Given the description of an element on the screen output the (x, y) to click on. 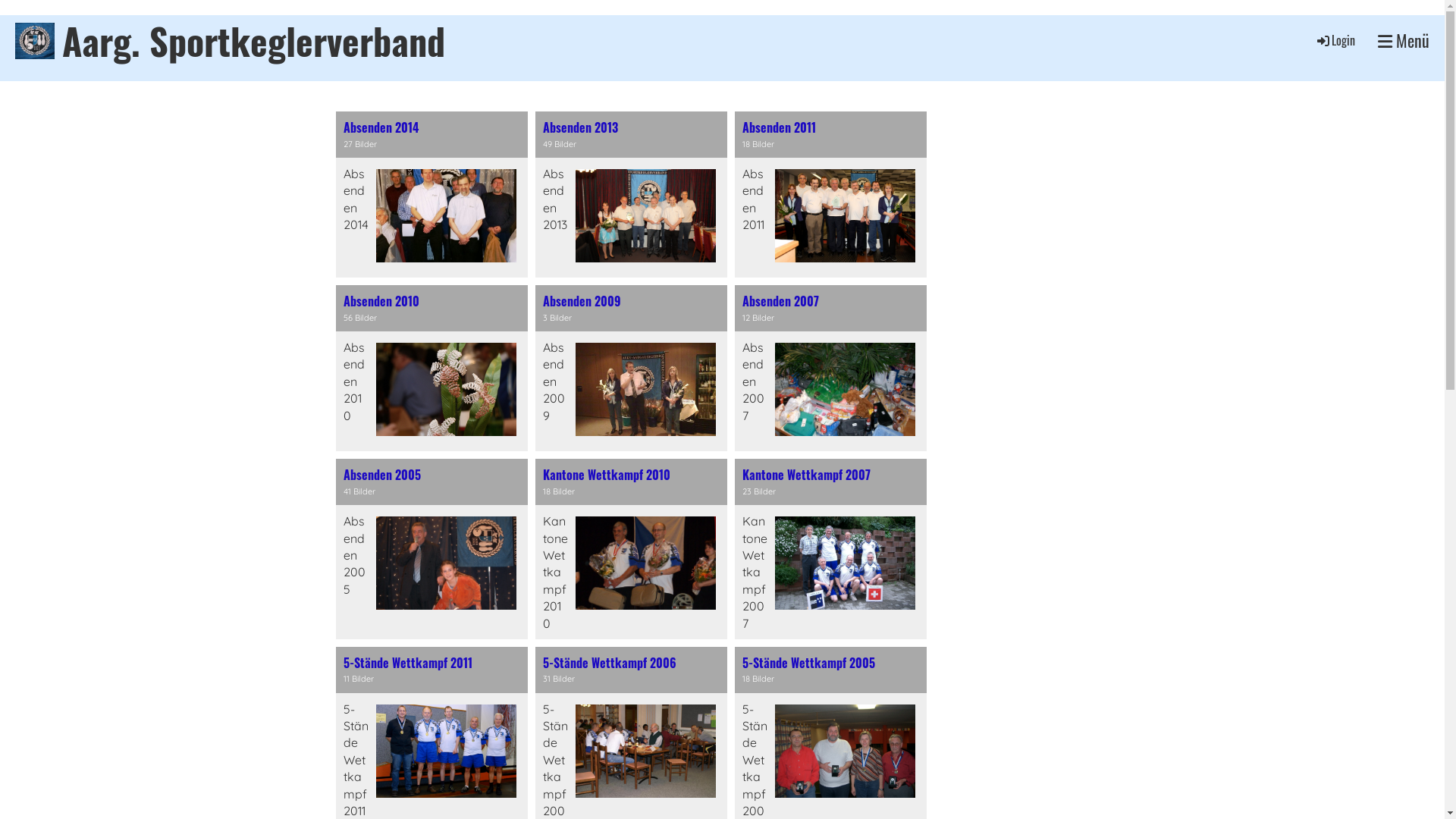
Absenden 2005
41 Bilder
Absenden 2005 Element type: text (431, 548)
Absenden 2014
27 Bilder
Absenden 2014 Element type: text (431, 194)
Login Element type: text (1334, 40)
Absenden 2010
56 Bilder
Absenden 2010 Element type: text (431, 368)
Aarg. Sportkeglerverband Element type: text (253, 40)
Absenden 2007
12 Bilder
Absenden 2007 Element type: text (830, 368)
Absenden 2009
3 Bilder
Absenden 2009 Element type: text (631, 368)
Absenden 2011
18 Bilder
Absenden 2011 Element type: text (830, 194)
Kantone Wettkampf 2007
23 Bilder
Kantone Wettkampf 2007 Element type: text (830, 548)
Kantone Wettkampf 2010
18 Bilder
Kantone Wettkampf 2010 Element type: text (631, 548)
Absenden 2013
49 Bilder
Absenden 2013 Element type: text (631, 194)
